Given the description of an element on the screen output the (x, y) to click on. 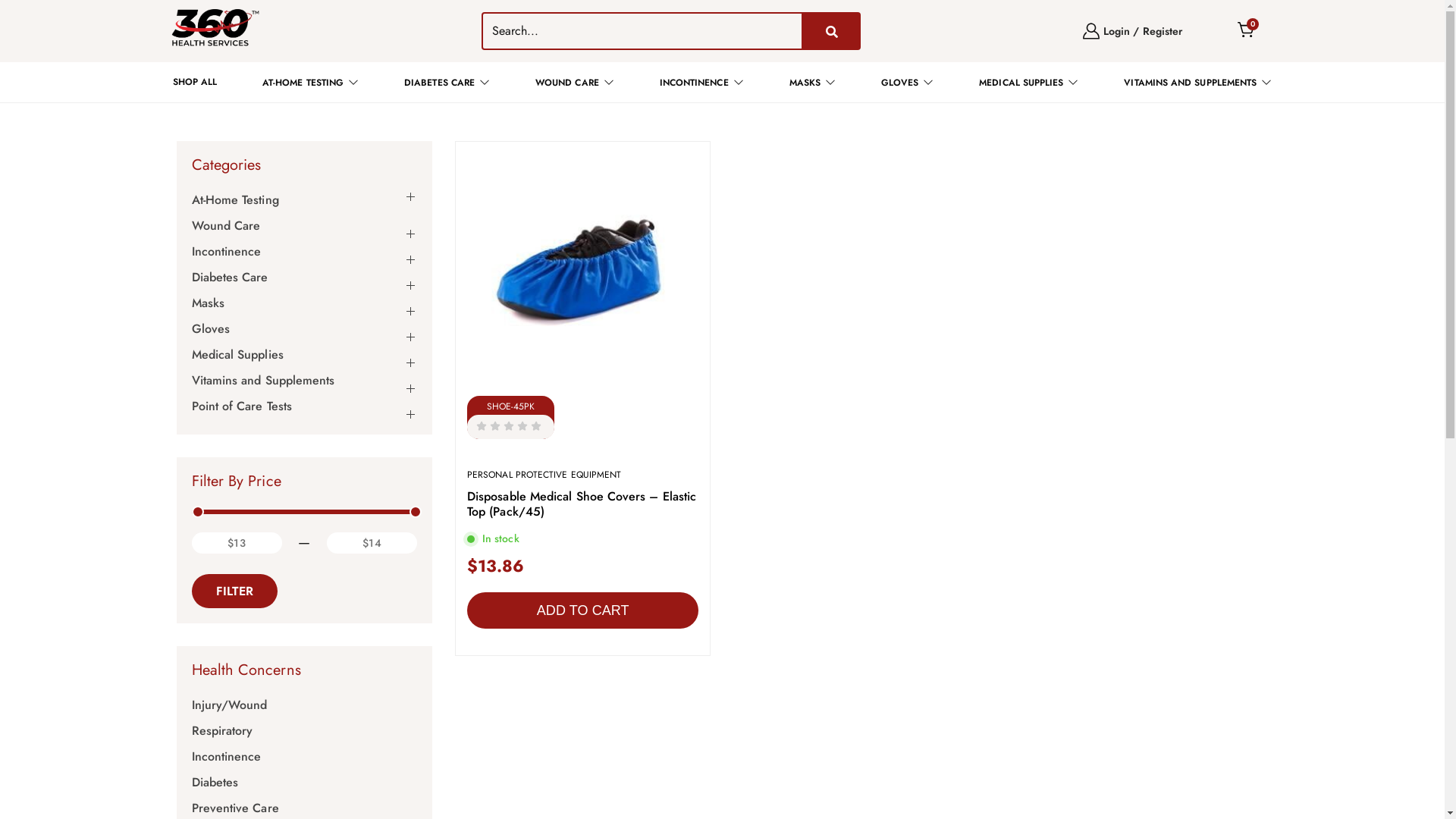
VITAMINS AND SUPPLEMENTS Element type: text (1197, 82)
Injury/Wound Element type: text (228, 704)
FILTER Element type: text (233, 591)
Diabetes Care Element type: text (229, 276)
At-Home Testing Element type: text (234, 199)
Preventive Care Element type: text (234, 807)
0 Element type: text (1245, 30)
Login / Register Element type: text (1132, 30)
Sign In Element type: text (719, 315)
Incontinence Element type: text (225, 756)
Respiratory Element type: text (221, 730)
AT-HOME TESTING Element type: text (310, 82)
Gloves Element type: text (210, 328)
Medical Supplies Element type: text (236, 354)
INCONTINENCE Element type: text (701, 82)
MASKS Element type: text (812, 82)
WOUND CARE Element type: text (574, 82)
Point of Care Tests Element type: text (241, 405)
Vitamins and Supplements Element type: text (262, 380)
MEDICAL SUPPLIES Element type: text (1028, 82)
ADD TO CART Element type: text (582, 610)
Masks Element type: text (207, 302)
Wound Care Element type: text (225, 225)
Incontinence Element type: text (225, 251)
DIABETES CARE Element type: text (446, 82)
Diabetes Element type: text (214, 781)
SHOP ALL Element type: text (195, 81)
GLOVES Element type: text (907, 82)
